Given the description of an element on the screen output the (x, y) to click on. 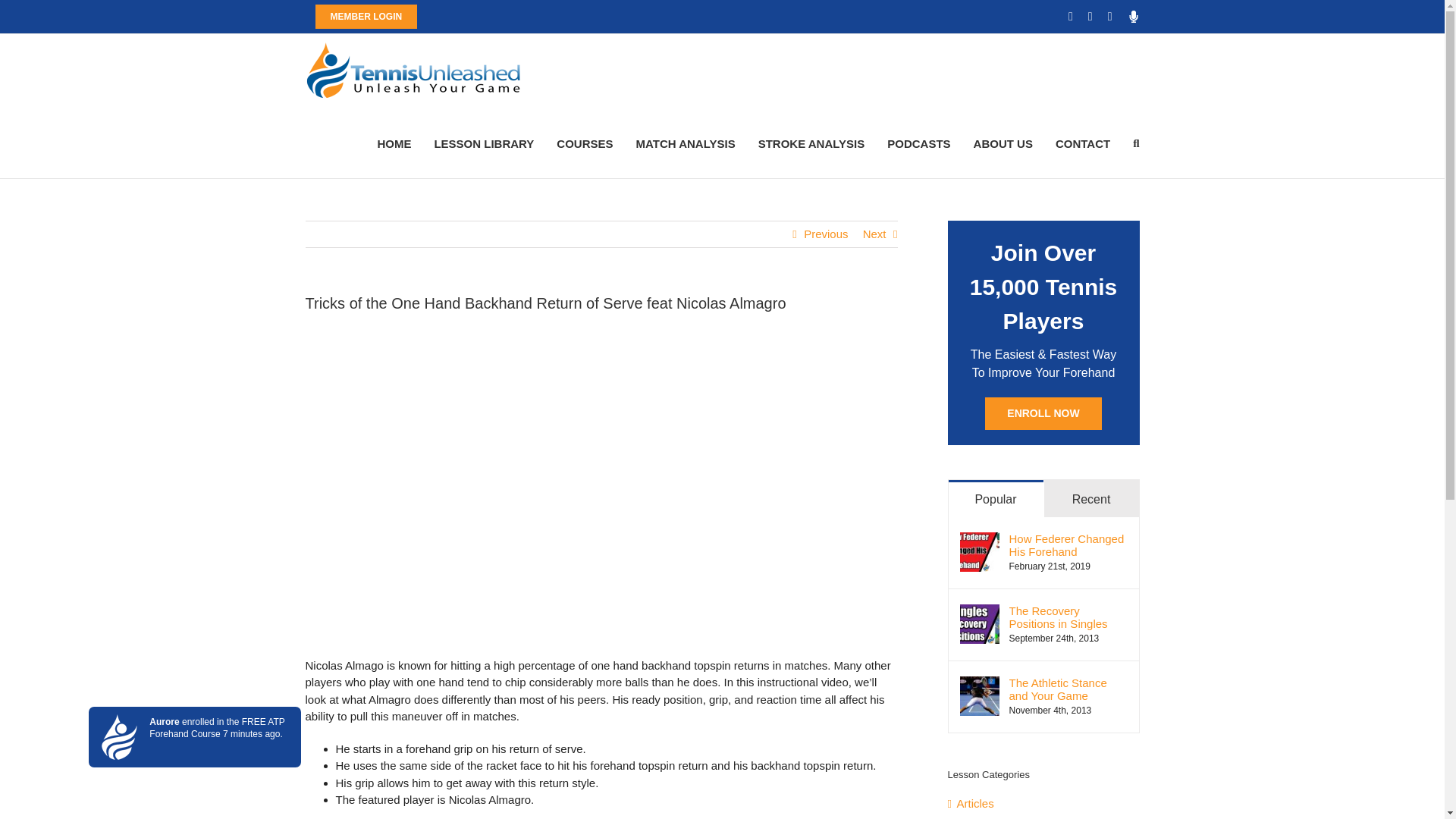
STROKE ANALYSIS (811, 142)
LESSON LIBRARY (483, 142)
Podcast (1133, 16)
MATCH ANALYSIS (685, 142)
MEMBER LOGIN (365, 16)
